Given the description of an element on the screen output the (x, y) to click on. 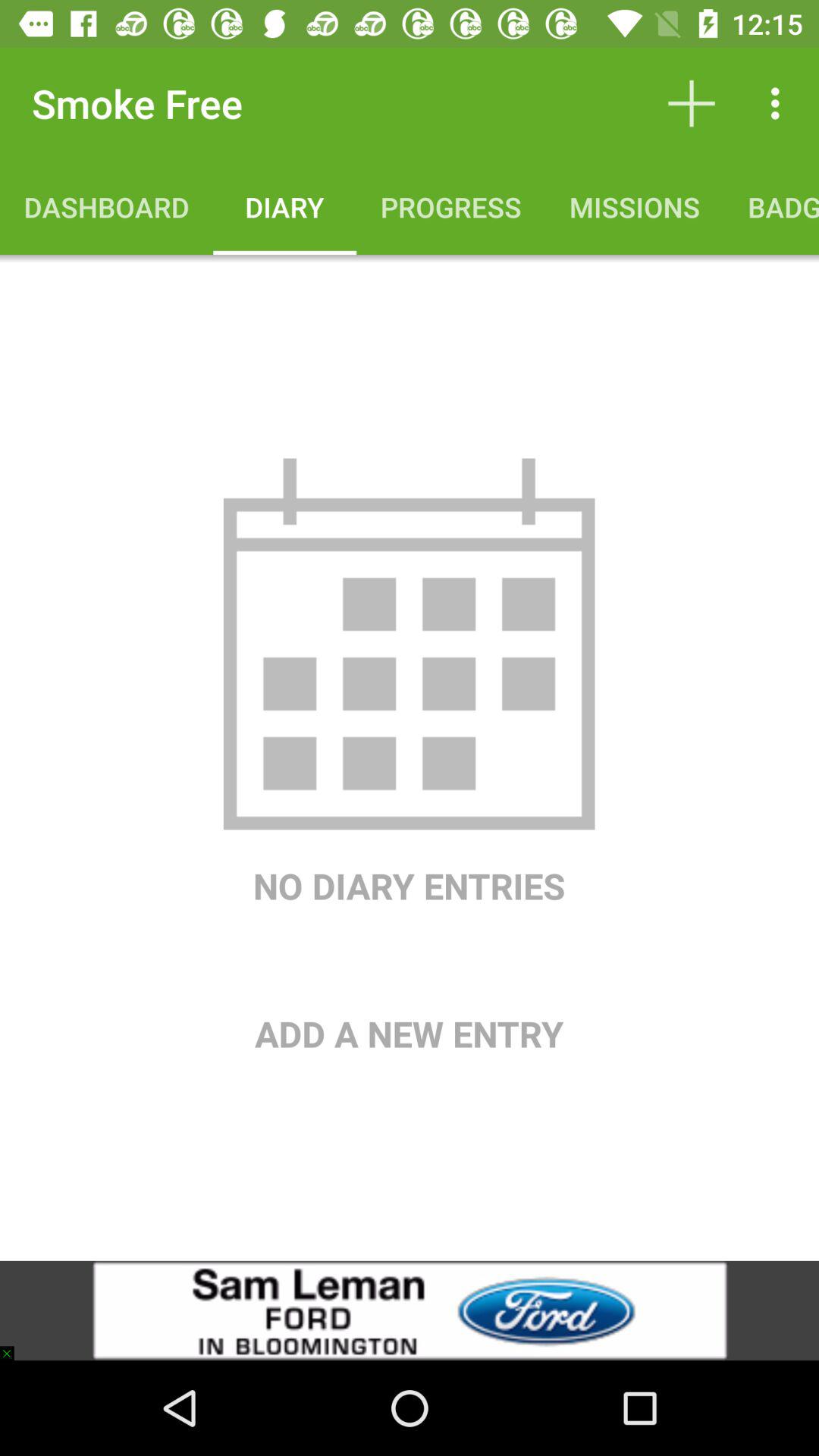
launch the item at the bottom left corner (14, 1346)
